Given the description of an element on the screen output the (x, y) to click on. 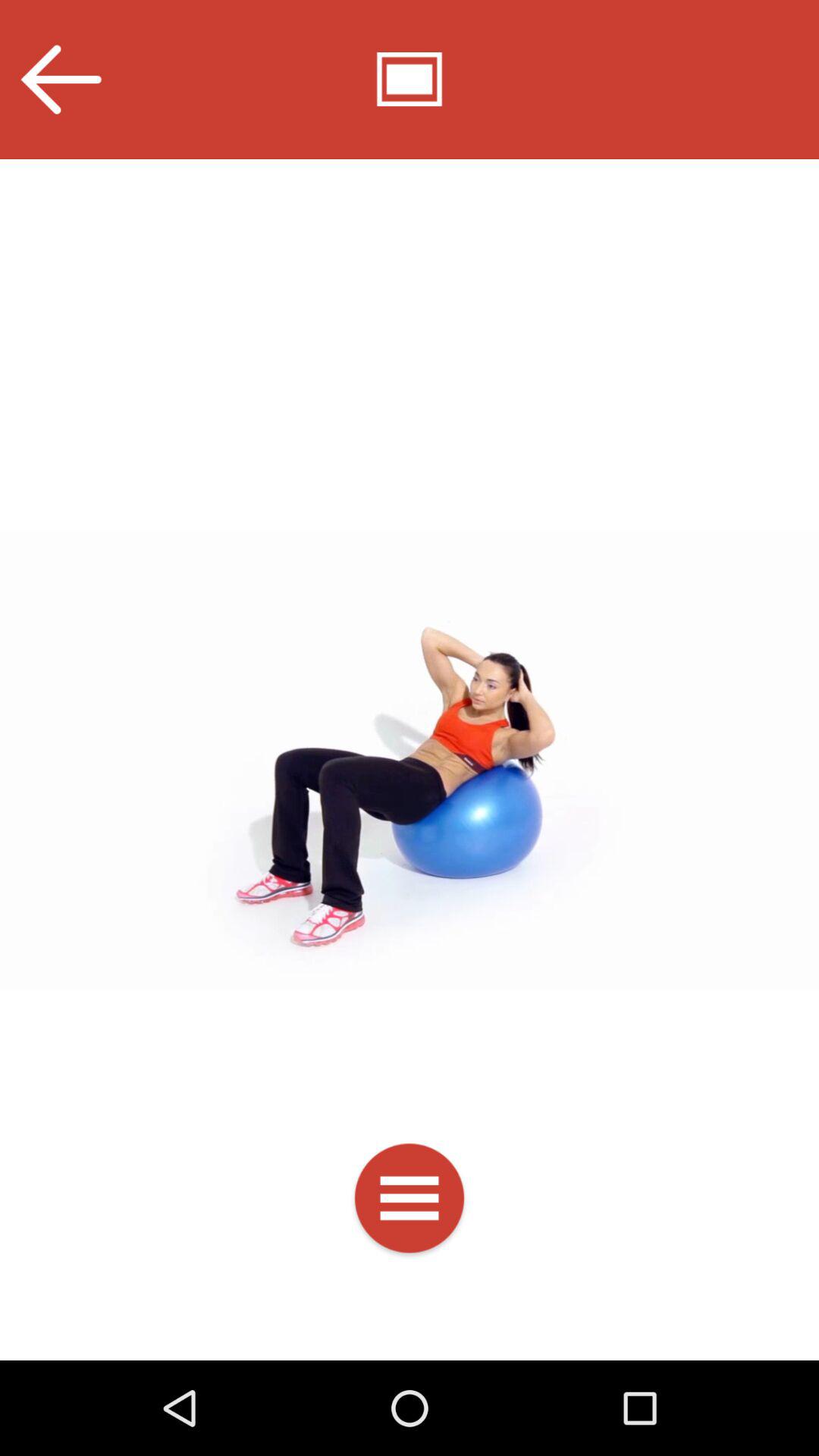
go back (59, 79)
